Given the description of an element on the screen output the (x, y) to click on. 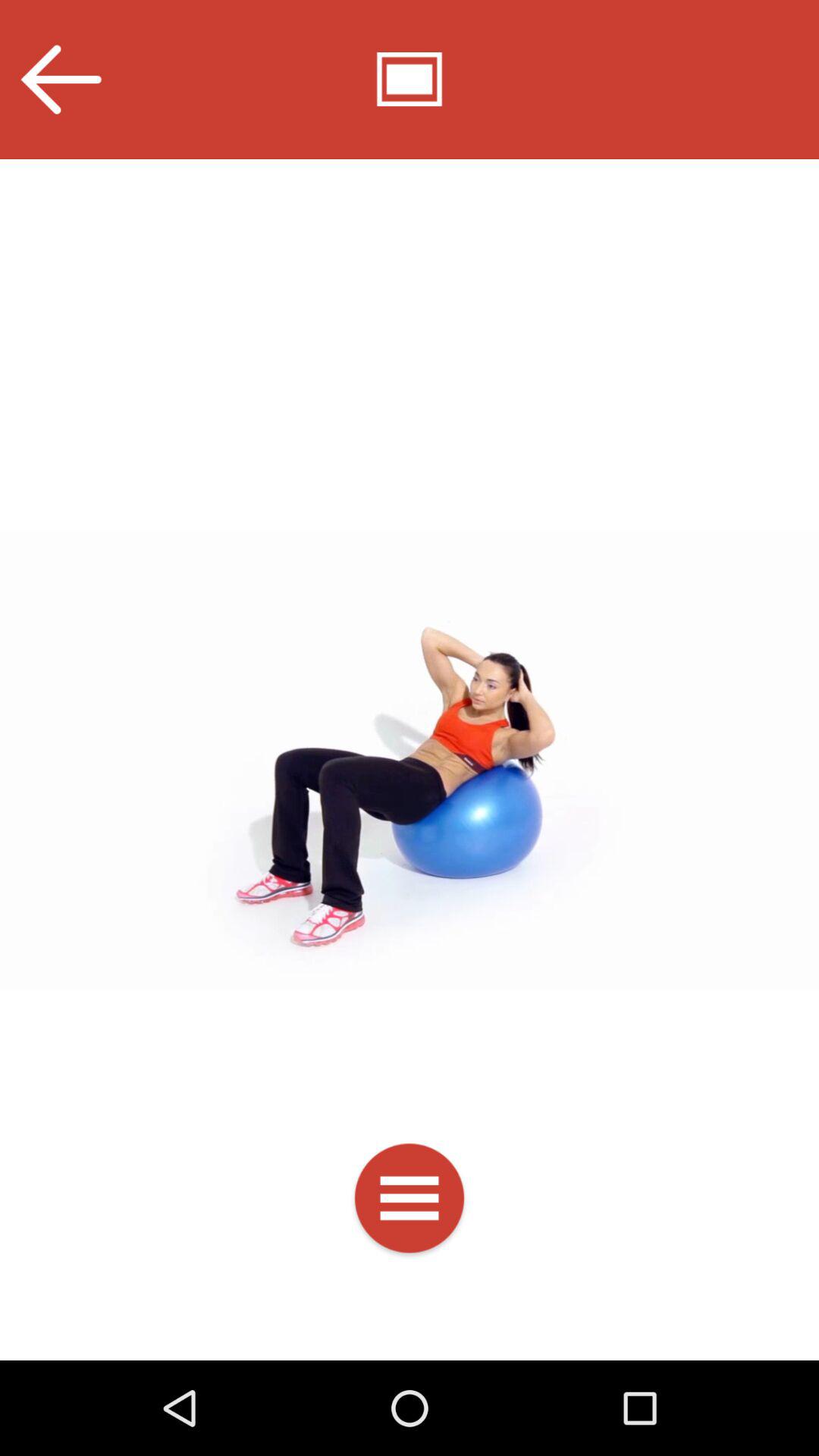
go back (59, 79)
